Given the description of an element on the screen output the (x, y) to click on. 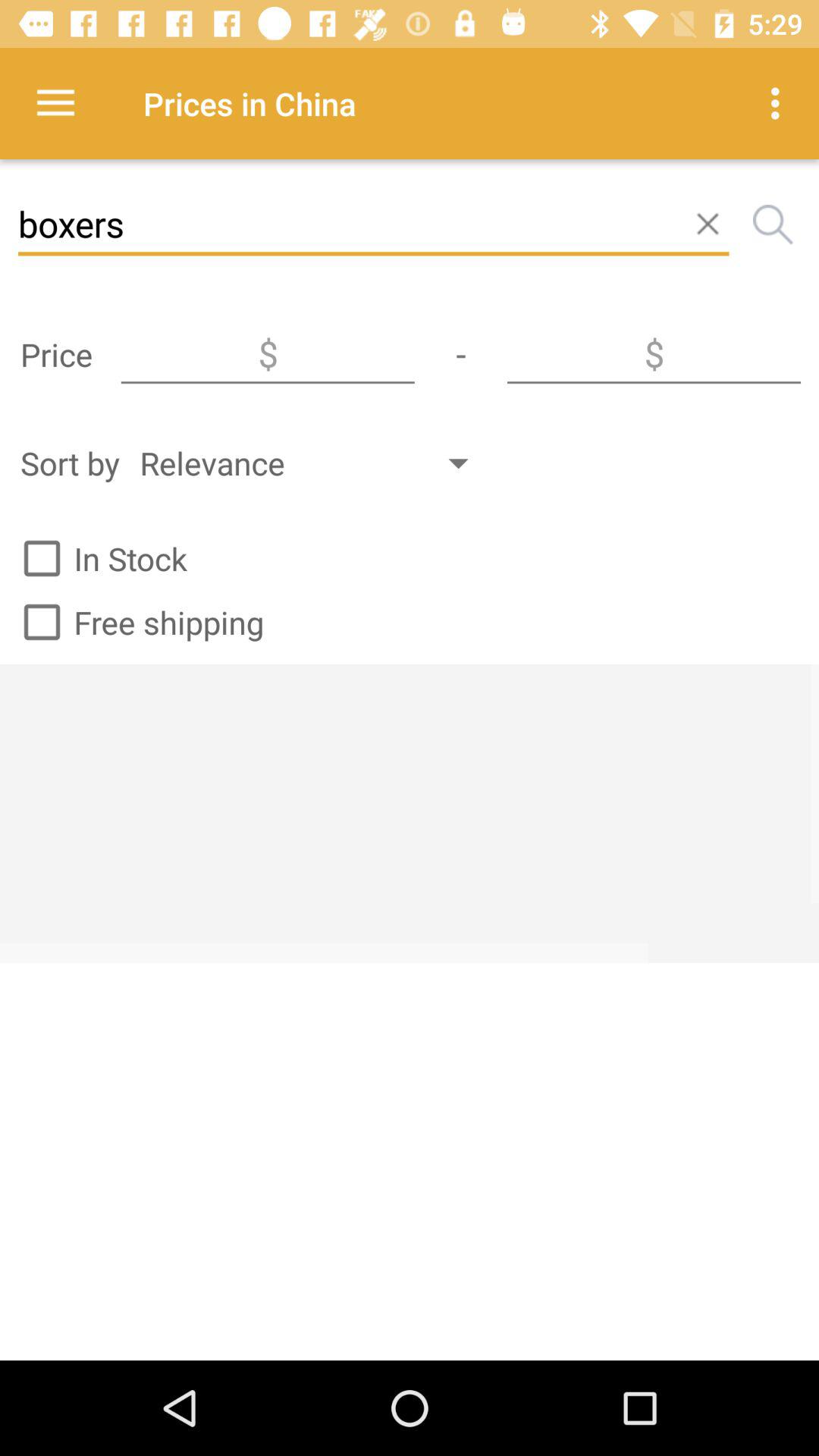
choose the icon above the sort by icon (267, 354)
